Given the description of an element on the screen output the (x, y) to click on. 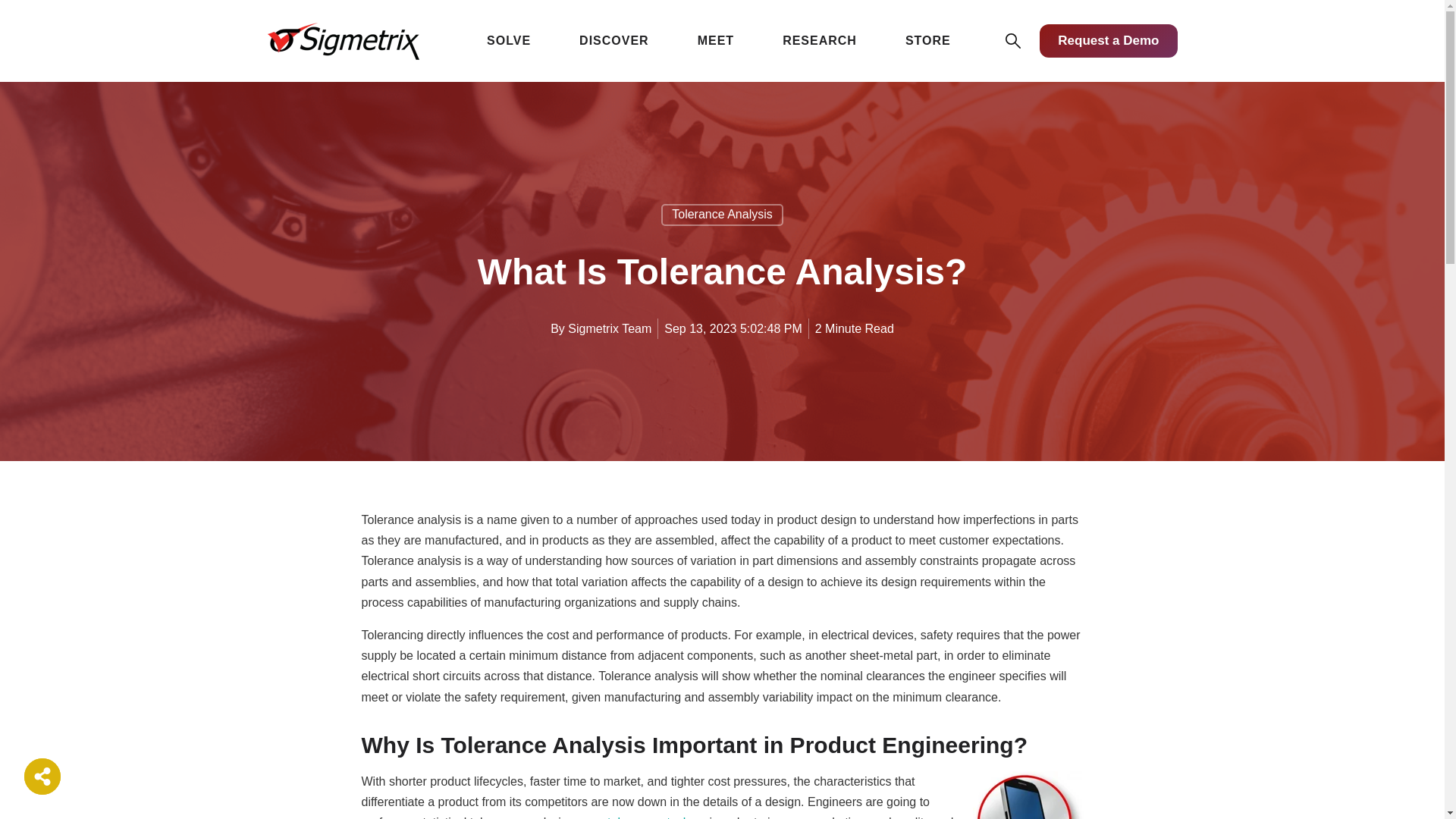
Tolerance Stack-up (656, 817)
